Given the description of an element on the screen output the (x, y) to click on. 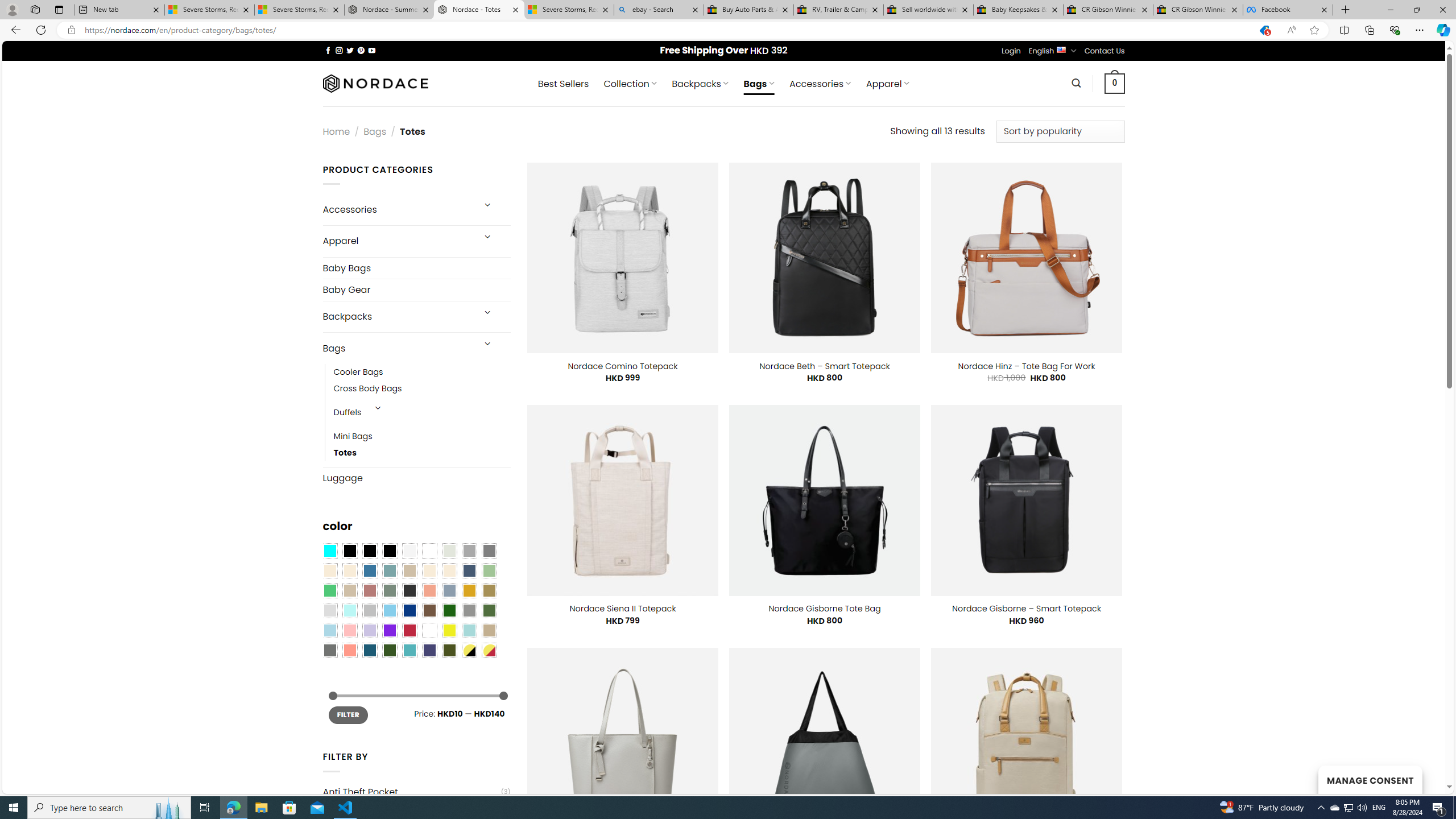
Mint (349, 610)
Clear (429, 550)
Light Purple (369, 630)
Caramel (429, 570)
Ash Gray (449, 550)
Totes (344, 452)
Follow on Pinterest (360, 49)
Contact Us (1104, 50)
Black-Brown (389, 550)
Aqua (468, 630)
Brown (429, 610)
Nordace - Summer Adventures 2024 (389, 9)
